Given the description of an element on the screen output the (x, y) to click on. 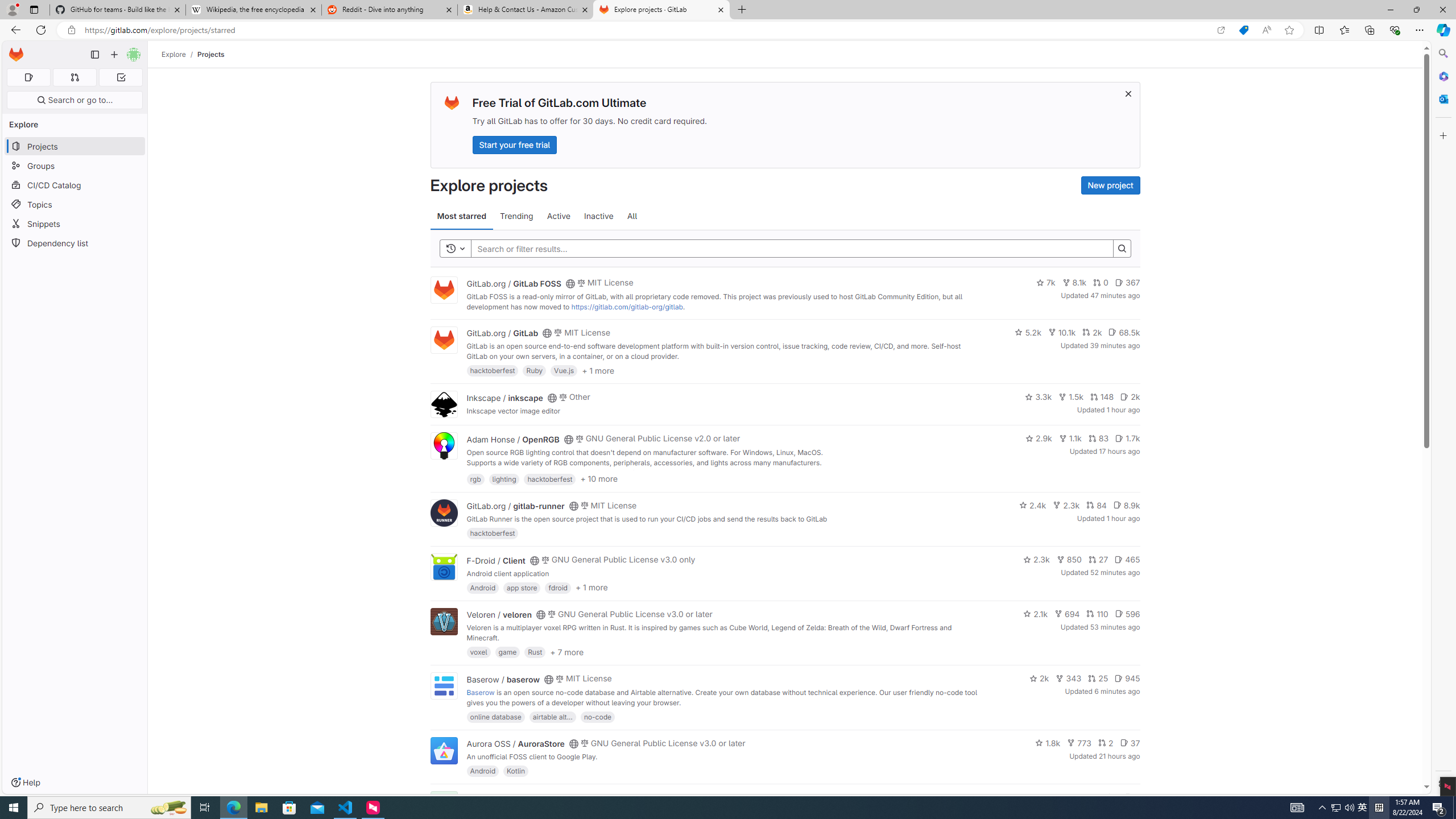
83 (1098, 438)
Edouard Klein / falsisign (512, 797)
27 (1097, 559)
84 (1096, 504)
Active (559, 216)
airtable alt... (552, 715)
Inkscape / inkscape (504, 397)
Vue.js (563, 370)
New project (1110, 185)
